Given the description of an element on the screen output the (x, y) to click on. 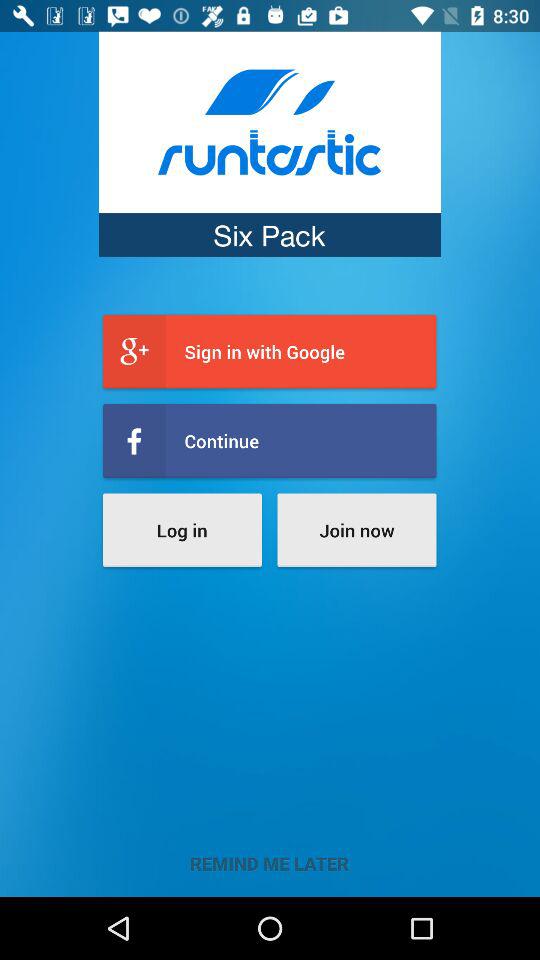
scroll to continue item (269, 440)
